Given the description of an element on the screen output the (x, y) to click on. 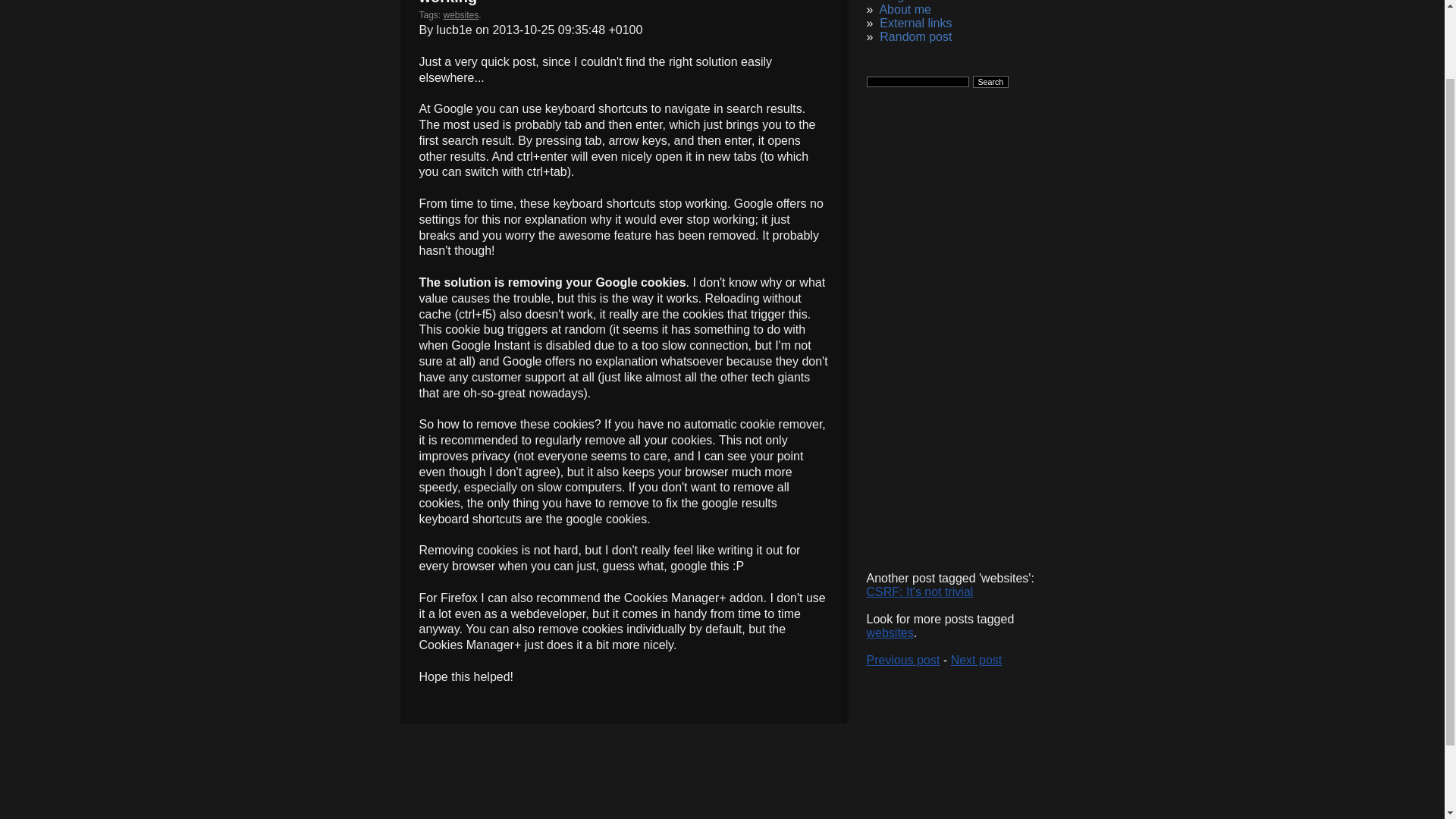
Search (990, 81)
All posts tagged with websites (461, 14)
websites (461, 14)
Next post (976, 659)
Random post (915, 36)
External links (915, 22)
About me (904, 9)
Search (990, 81)
Search (990, 81)
Previous post (902, 659)
Number of posts with this tag: 18 (889, 632)
websites (889, 632)
CSRF: It's not trivial (919, 591)
Blog (891, 1)
